Given the description of an element on the screen output the (x, y) to click on. 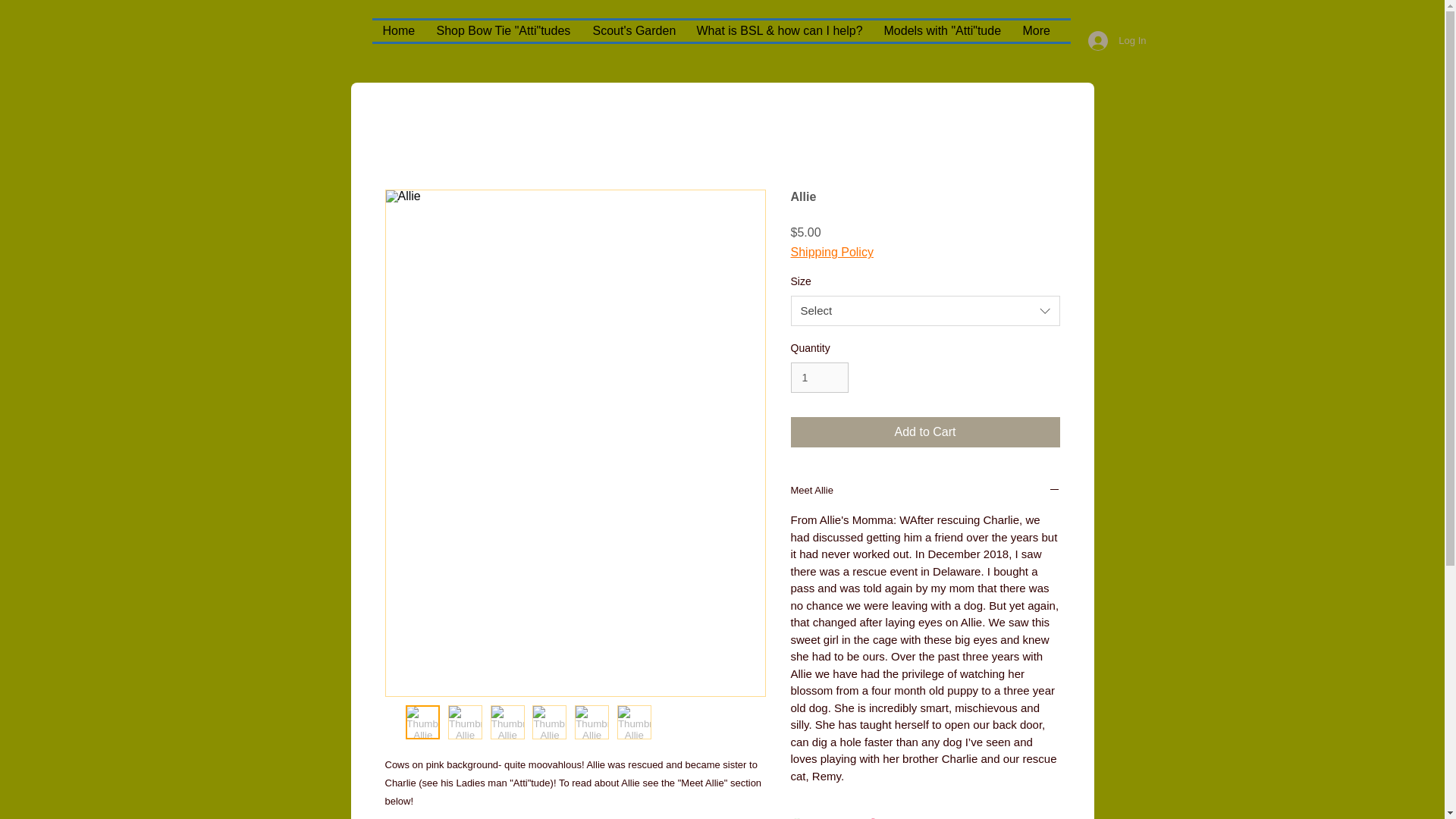
Log In (1116, 40)
Shop Bow Tie "Atti"tudes (504, 30)
1 (818, 377)
Add to Cart (924, 431)
Meet Allie (924, 491)
Select (924, 310)
Scout's Garden (633, 30)
Models with "Atti"tude (942, 30)
Home (398, 30)
Shipping Policy (831, 252)
